Given the description of an element on the screen output the (x, y) to click on. 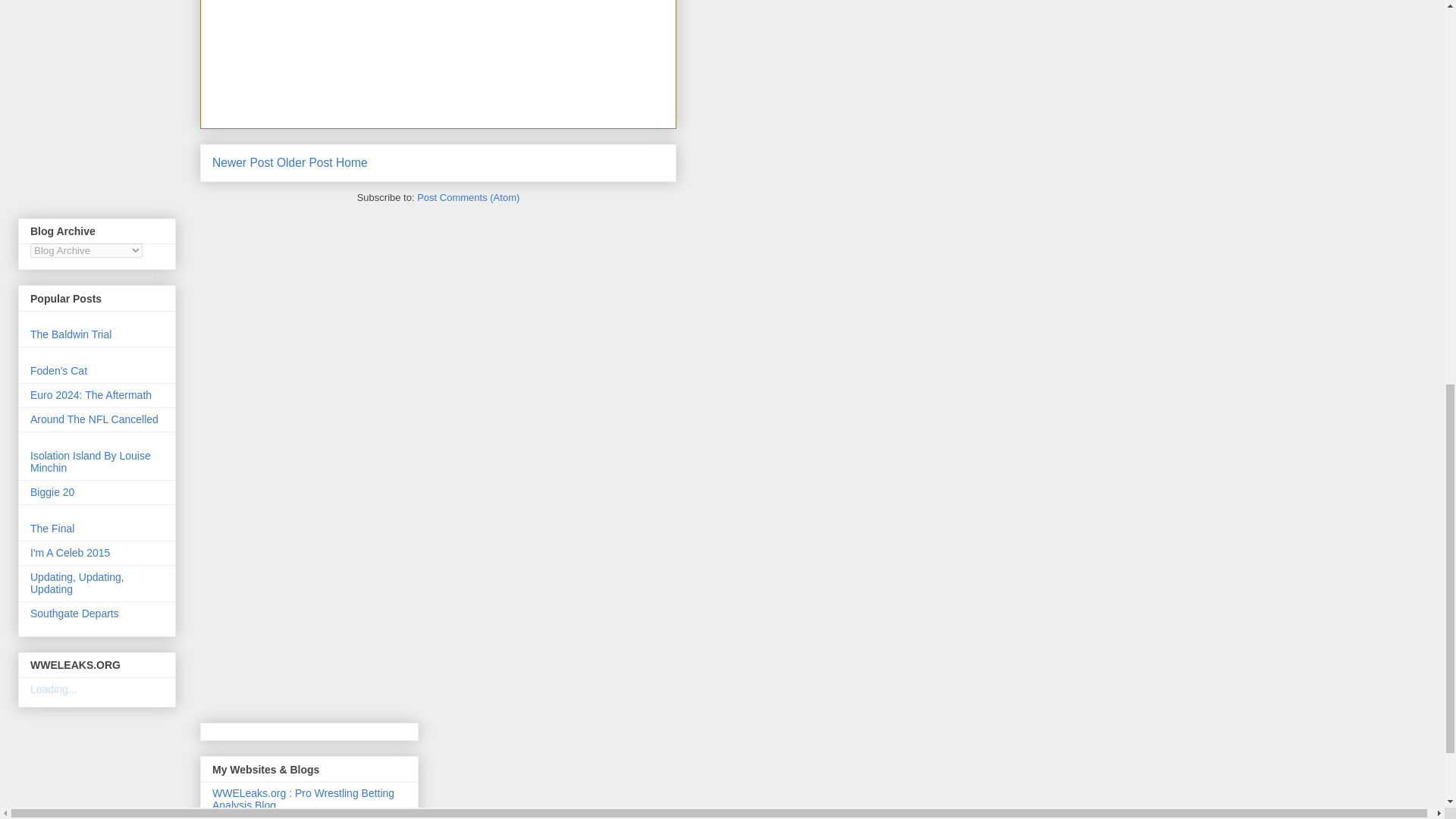
Euro 2024: The Aftermath (90, 395)
Newer Post (242, 162)
Loading... (53, 689)
The Final (52, 528)
Foden's Cat (58, 370)
Updating, Updating, Updating (76, 582)
Around The NFL Cancelled (94, 419)
Newer Post (242, 162)
I'm A Celeb 2015 (70, 552)
Home (352, 162)
Isolation Island By Louise Minchin (90, 461)
The Baldwin Trial (71, 334)
WWELeaks.org : Pro Wrestling Betting Analysis Blog (303, 799)
Older Post (304, 162)
Biggie 20 (52, 491)
